Given the description of an element on the screen output the (x, y) to click on. 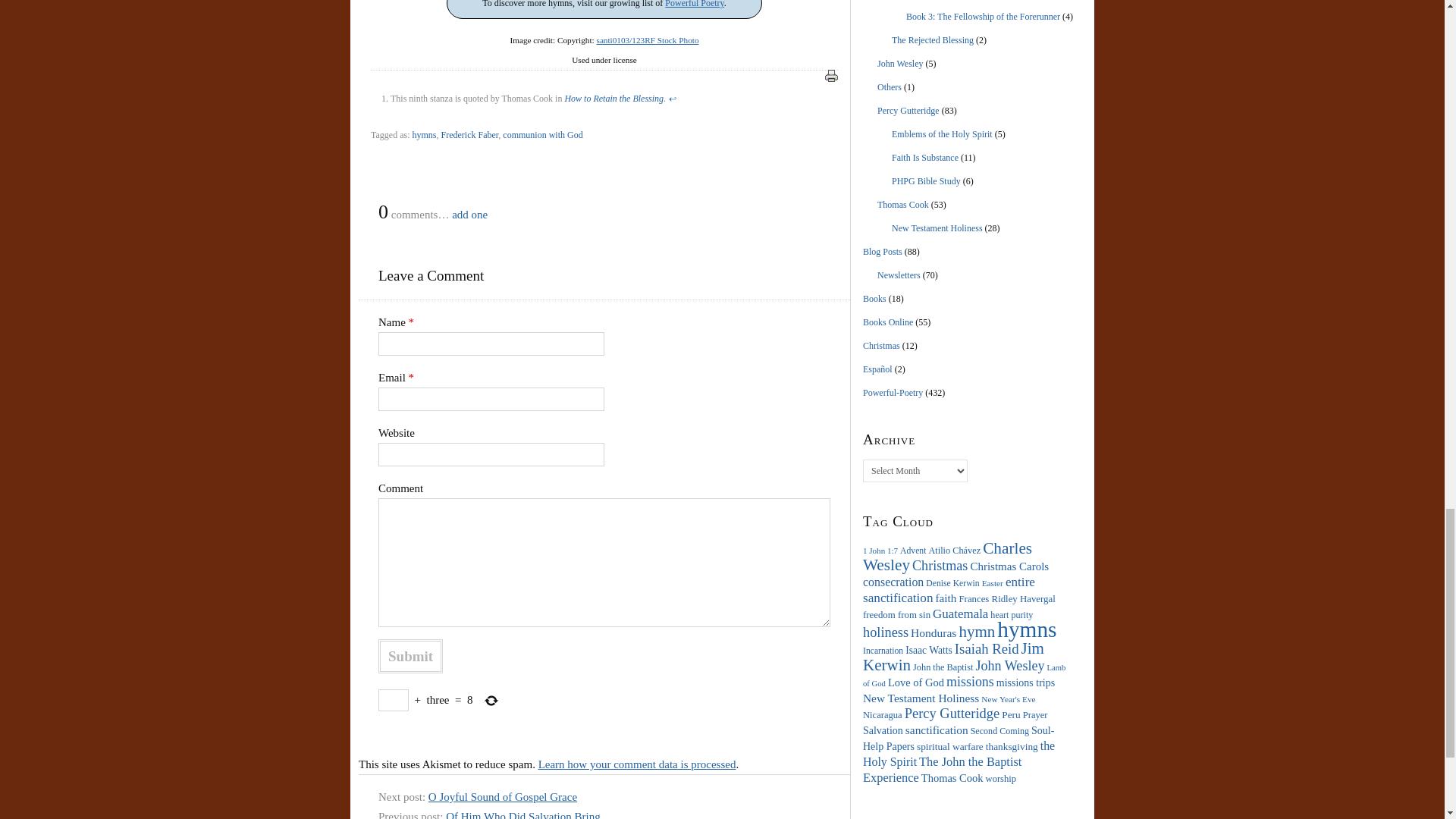
O Joyful Sound of Gospel Grace (502, 797)
Print this poem. (831, 75)
Required (411, 377)
Required (411, 322)
hymns (423, 134)
Powerful Poetry (694, 4)
add one (469, 214)
Submit (410, 656)
Of Him Who Did Salvation Bring (522, 814)
communion with God (542, 134)
Submit (410, 656)
Learn how your comment data is processed (637, 764)
How to Retain the Blessing (613, 98)
